Given the description of an element on the screen output the (x, y) to click on. 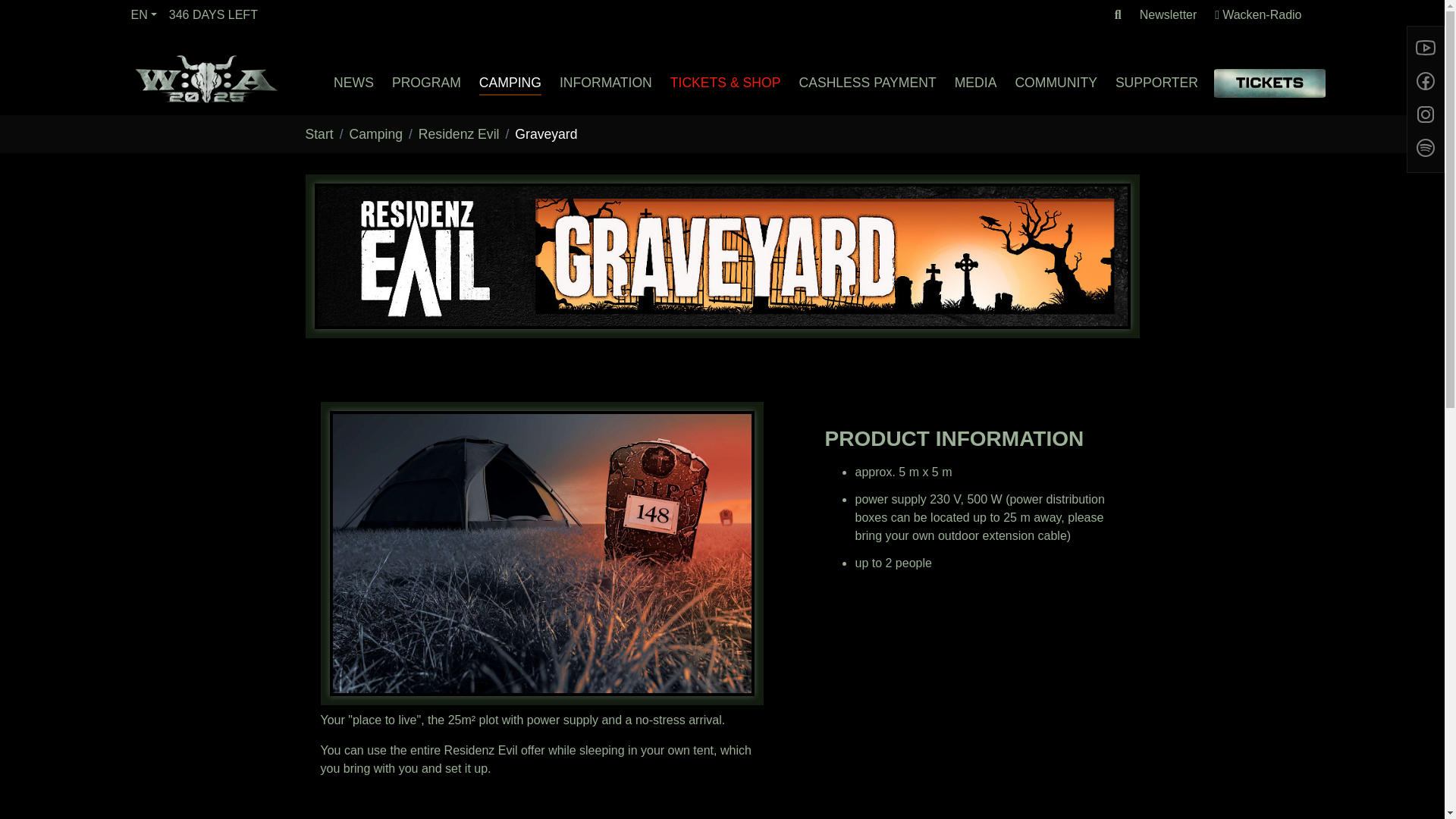
PROGRAM (426, 82)
English (143, 14)
News (353, 82)
CAMPING (510, 82)
NEWS (353, 82)
Newsletter (1168, 14)
INFORMATION (605, 82)
Wacken Start (206, 77)
Wacken-Radio (1257, 14)
Camping (510, 82)
